Given the description of an element on the screen output the (x, y) to click on. 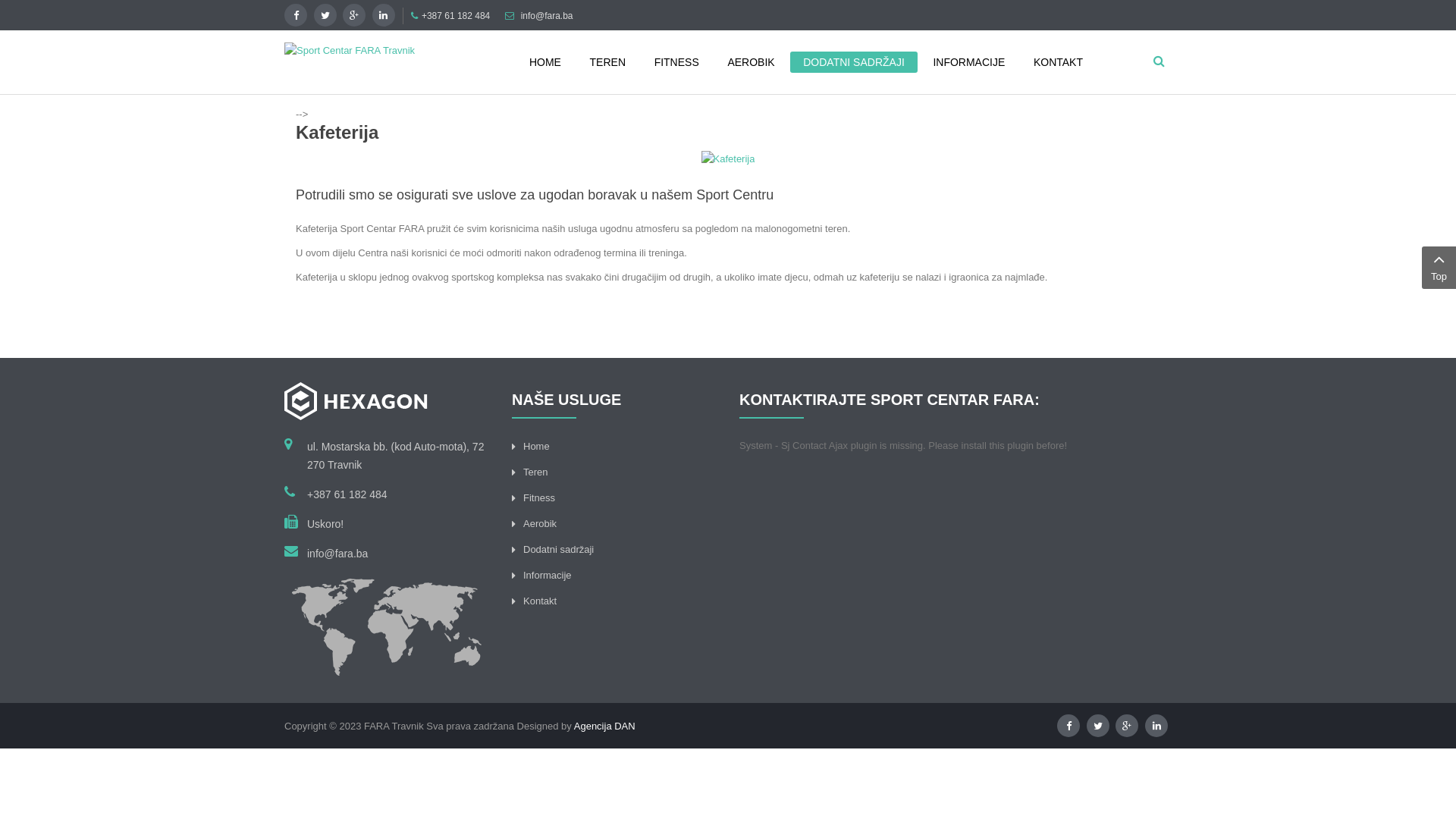
KONTAKT Element type: text (1057, 62)
info@fara.ba Element type: text (337, 553)
Sport Centar FARA Travnik Element type: hover (349, 49)
Fitness Element type: text (539, 497)
TEREN Element type: text (607, 62)
FITNESS Element type: text (676, 62)
Home Element type: text (536, 445)
Click to preview image Element type: hover (728, 157)
INFORMACIJE Element type: text (968, 62)
Teren Element type: text (535, 471)
info@fara.ba Element type: text (546, 15)
Informacije Element type: text (547, 574)
AEROBIK Element type: text (750, 62)
Agencija DAN Element type: text (604, 725)
HOME Element type: text (545, 62)
Kontakt Element type: text (539, 600)
Aerobik Element type: text (539, 523)
